Given the description of an element on the screen output the (x, y) to click on. 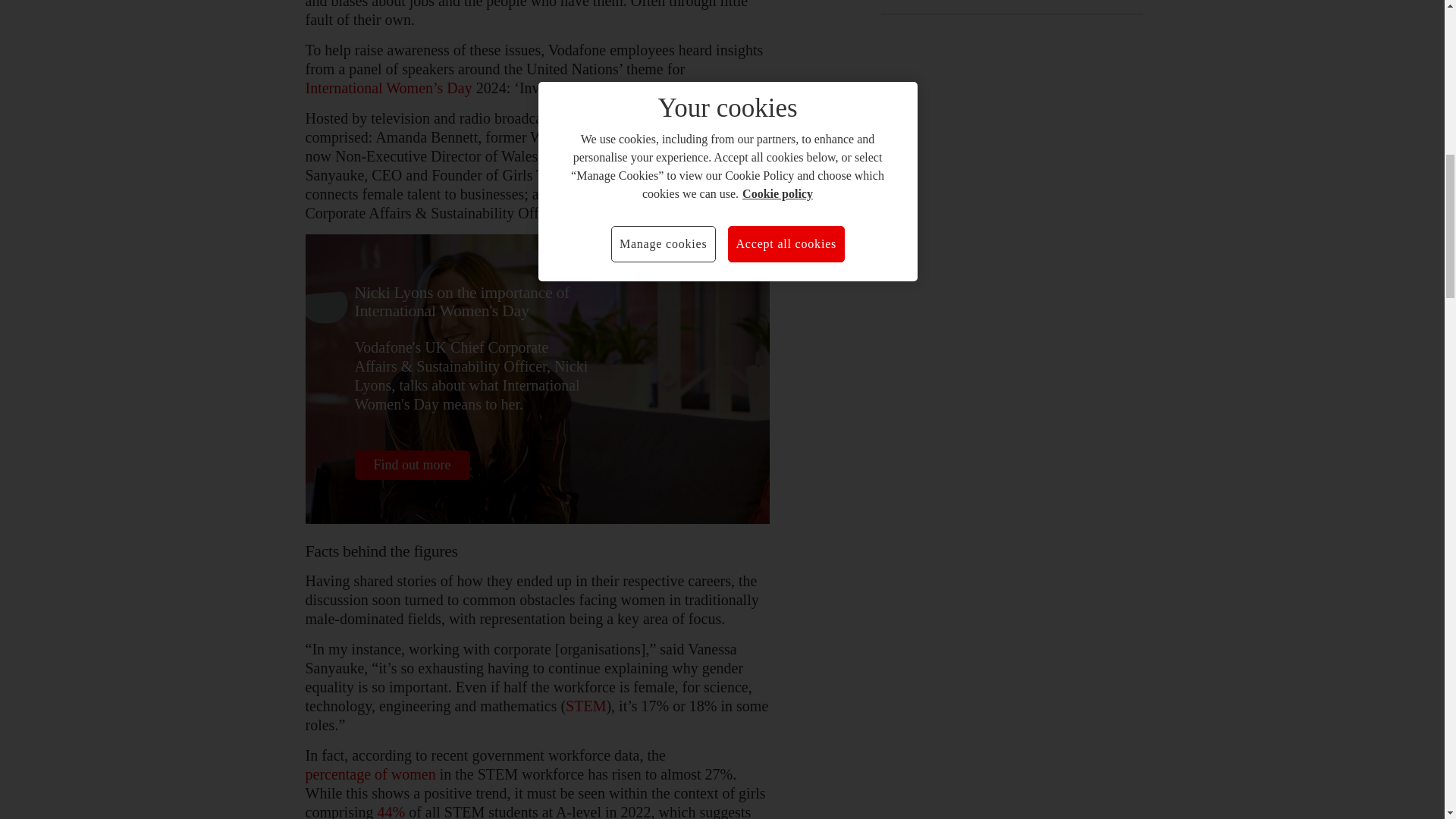
Nicki Lyons (606, 212)
STEM (585, 705)
Emma Willis (607, 117)
Find out more (412, 464)
percentage of women (369, 773)
